Given the description of an element on the screen output the (x, y) to click on. 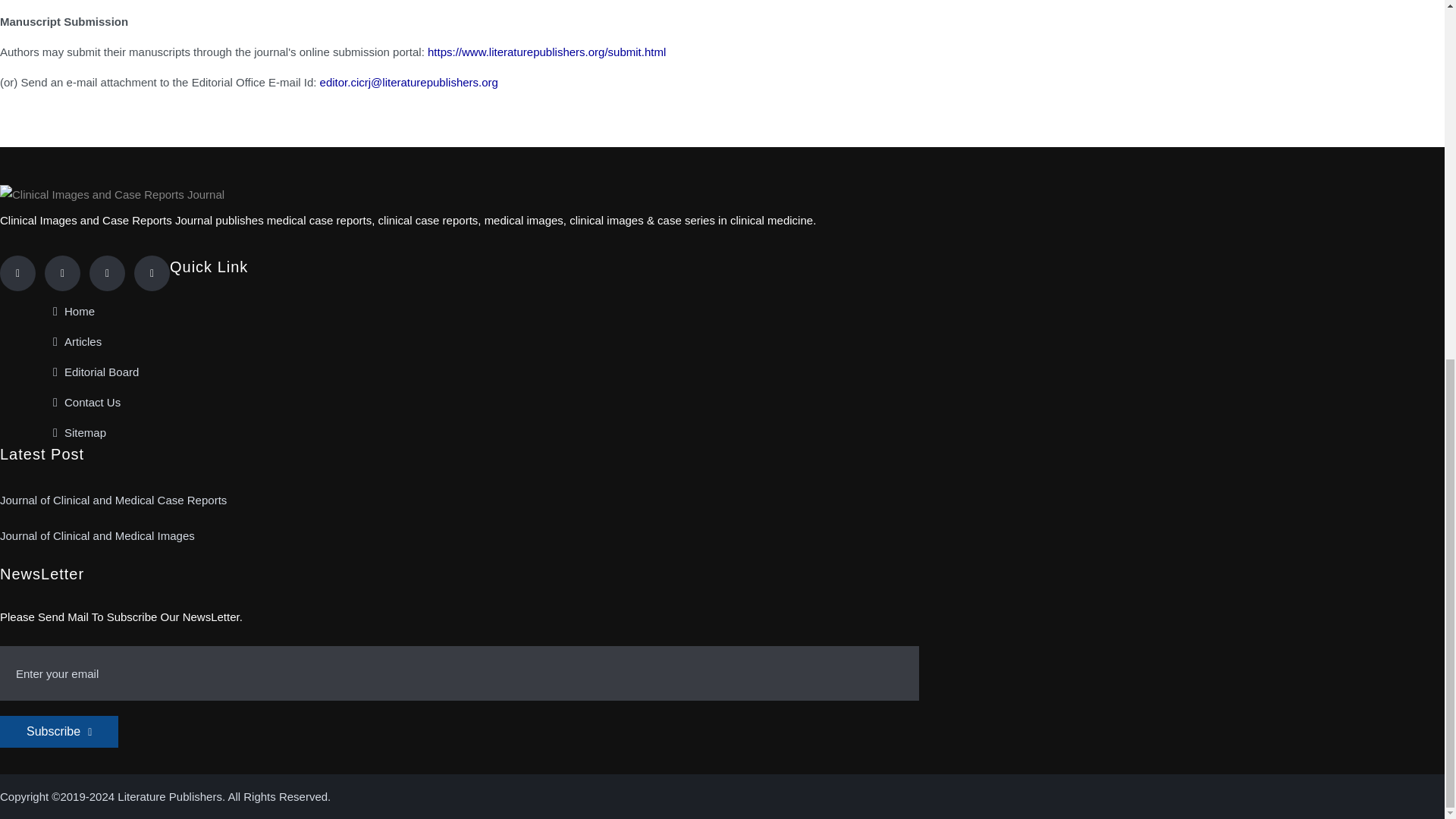
Contact Us (86, 402)
Journal of Clinical and Medical Images (97, 536)
Editorial Board (95, 372)
Clinical Images and Case Reports Journal (112, 194)
Twitter (62, 273)
Whatsapp (151, 273)
Subscribe (58, 731)
Linkedin (106, 273)
Facebook (17, 273)
Home (73, 311)
